Given the description of an element on the screen output the (x, y) to click on. 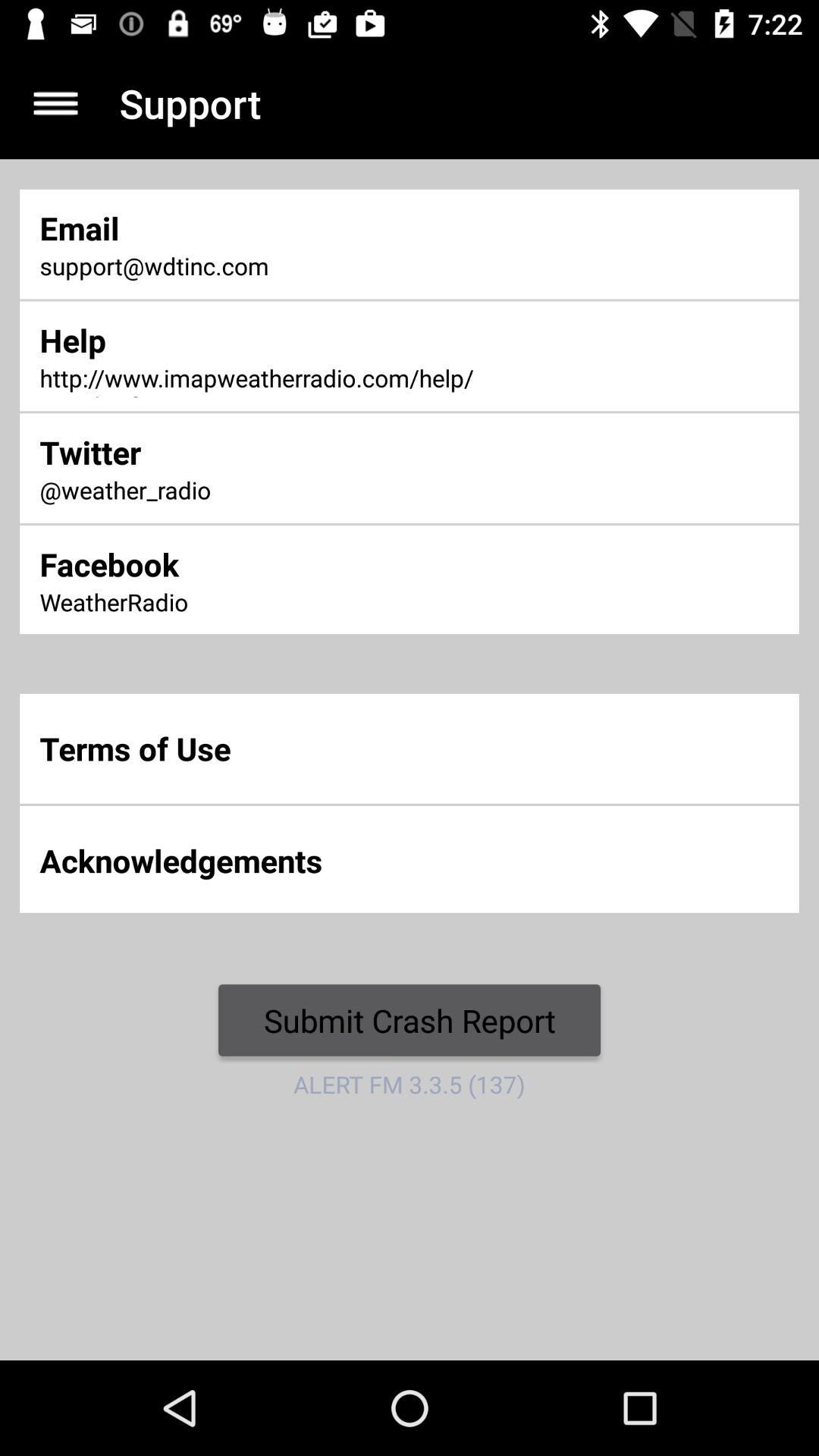
press item above the help icon (270, 267)
